Given the description of an element on the screen output the (x, y) to click on. 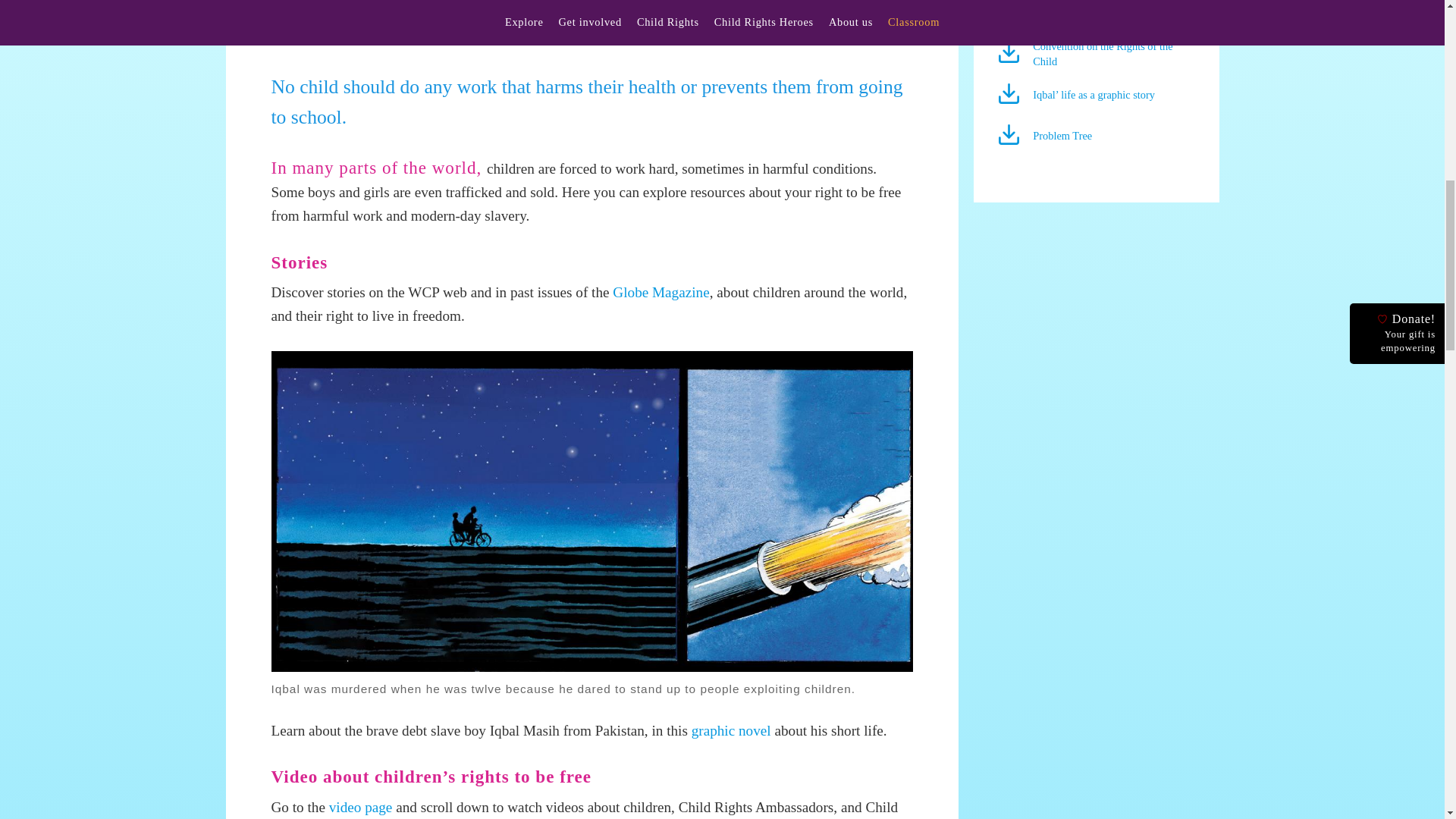
Convention on the Rights of the Child, simplified version. (1012, 59)
video page (361, 806)
Convention on the Rights of the Child, simplified version. (1102, 53)
Globe Magazine (660, 292)
graphic novel (731, 729)
